Given the description of an element on the screen output the (x, y) to click on. 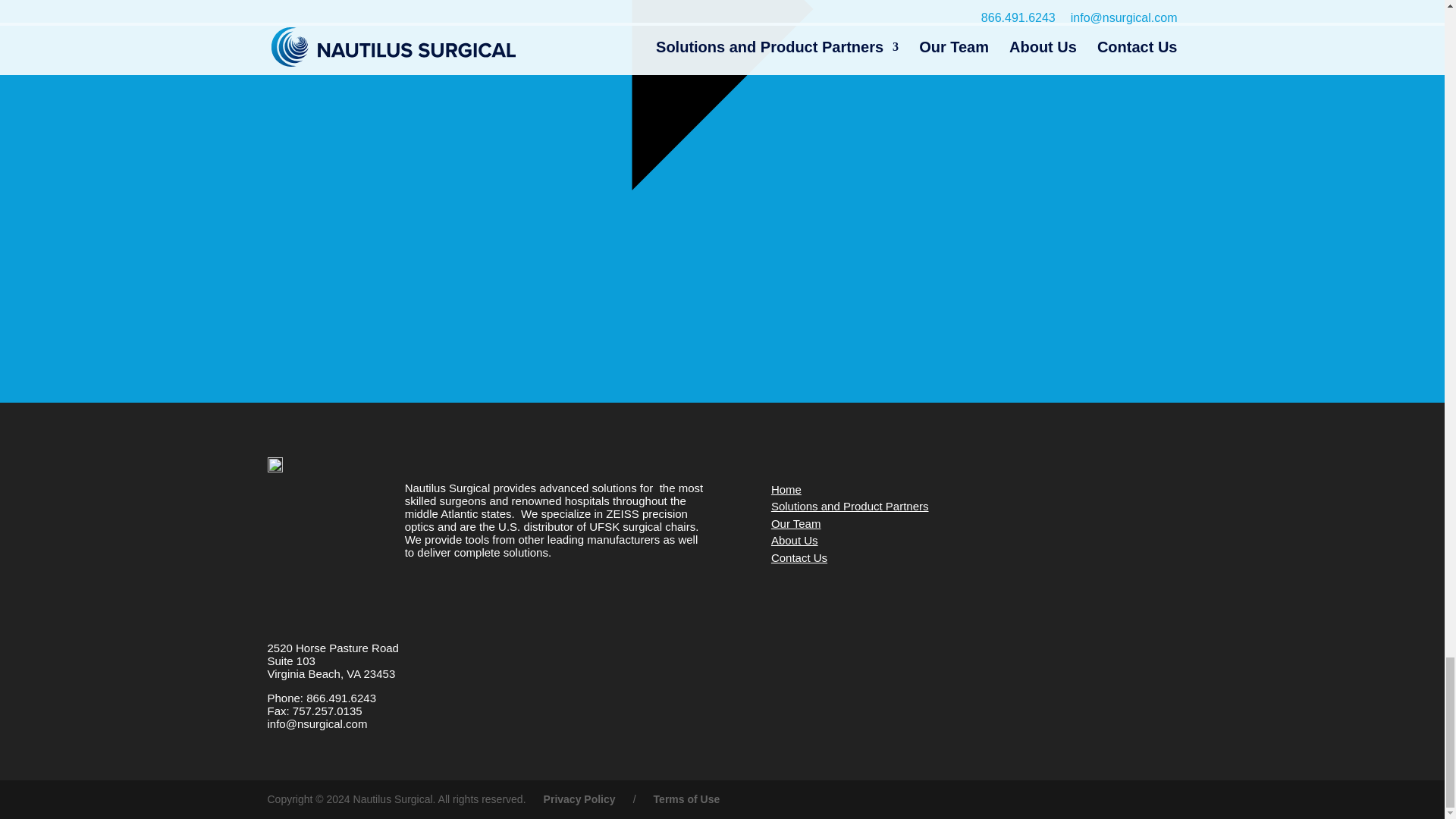
Privacy Policy (579, 799)
866.491.6243 (340, 697)
Solutions and Product Partners (849, 505)
About Us (794, 540)
Contact Us (331, 660)
Contact Us (796, 522)
Home (799, 557)
Terms of Use (786, 489)
